Given the description of an element on the screen output the (x, y) to click on. 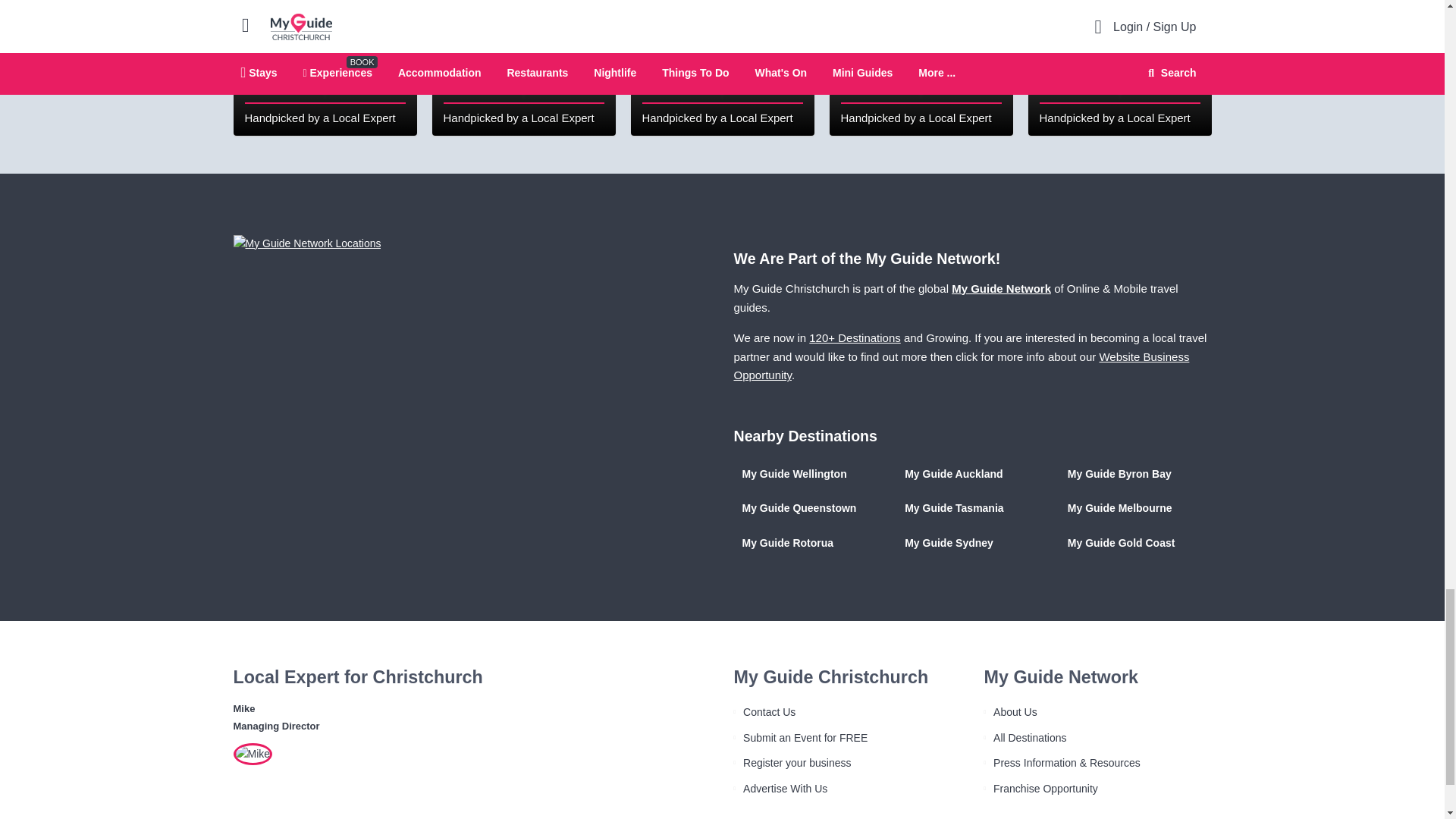
Where To Watch The Rugby In Christchurch (324, 67)
